Given the description of an element on the screen output the (x, y) to click on. 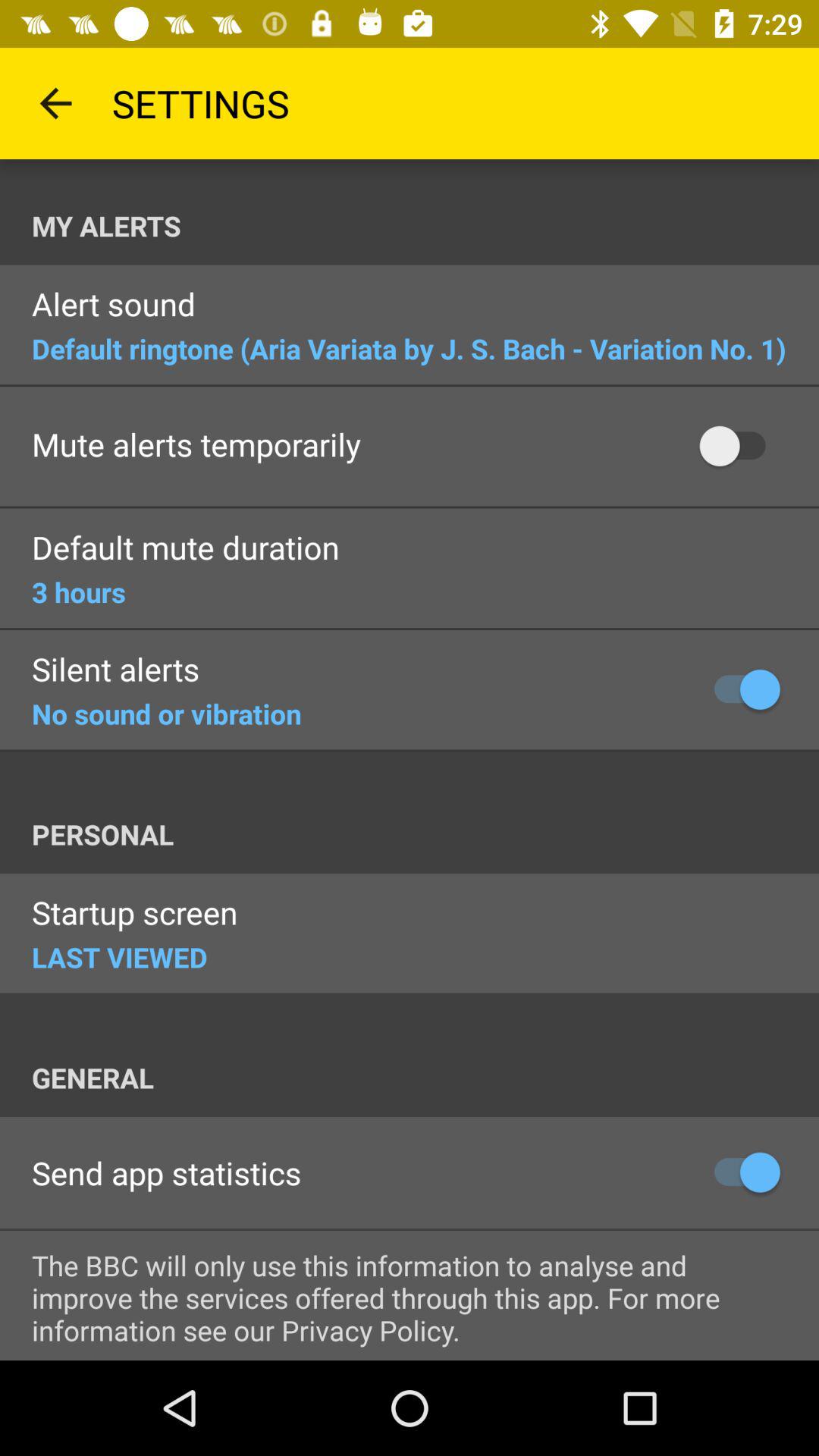
open the item below the default ringtone aria (196, 446)
